Given the description of an element on the screen output the (x, y) to click on. 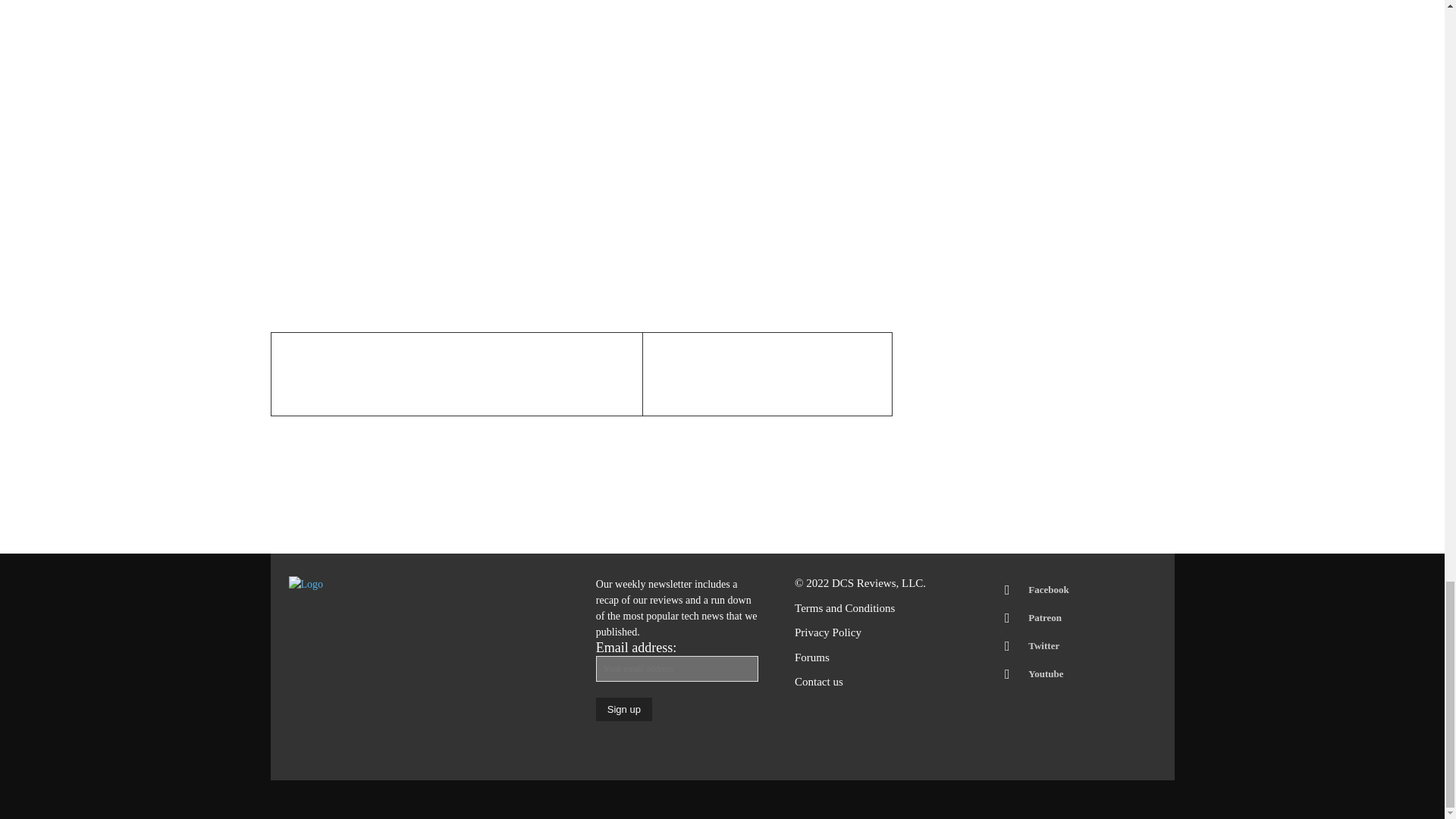
Sign up (623, 709)
